Given the description of an element on the screen output the (x, y) to click on. 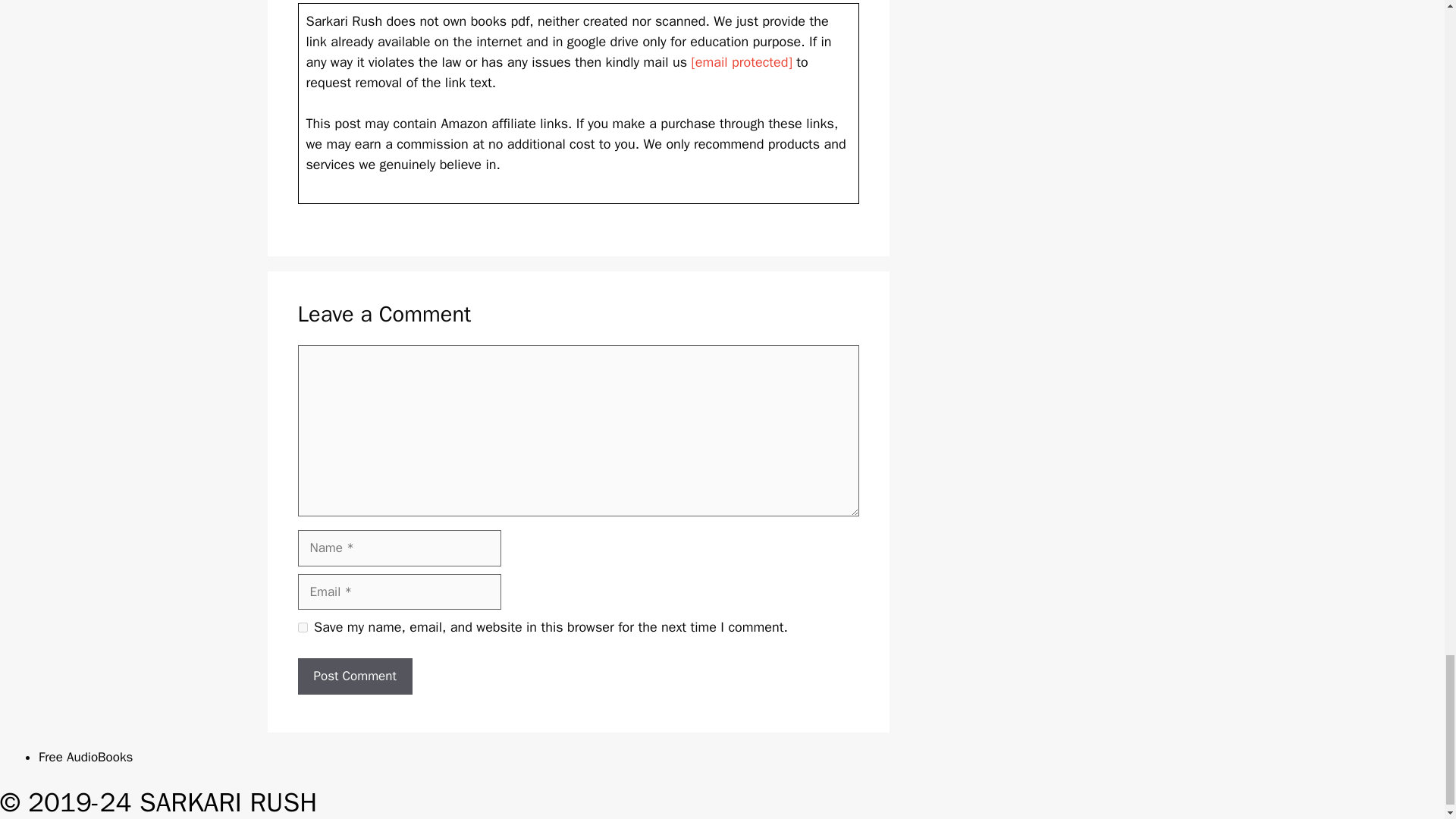
Post Comment (354, 676)
yes (302, 627)
